Given the description of an element on the screen output the (x, y) to click on. 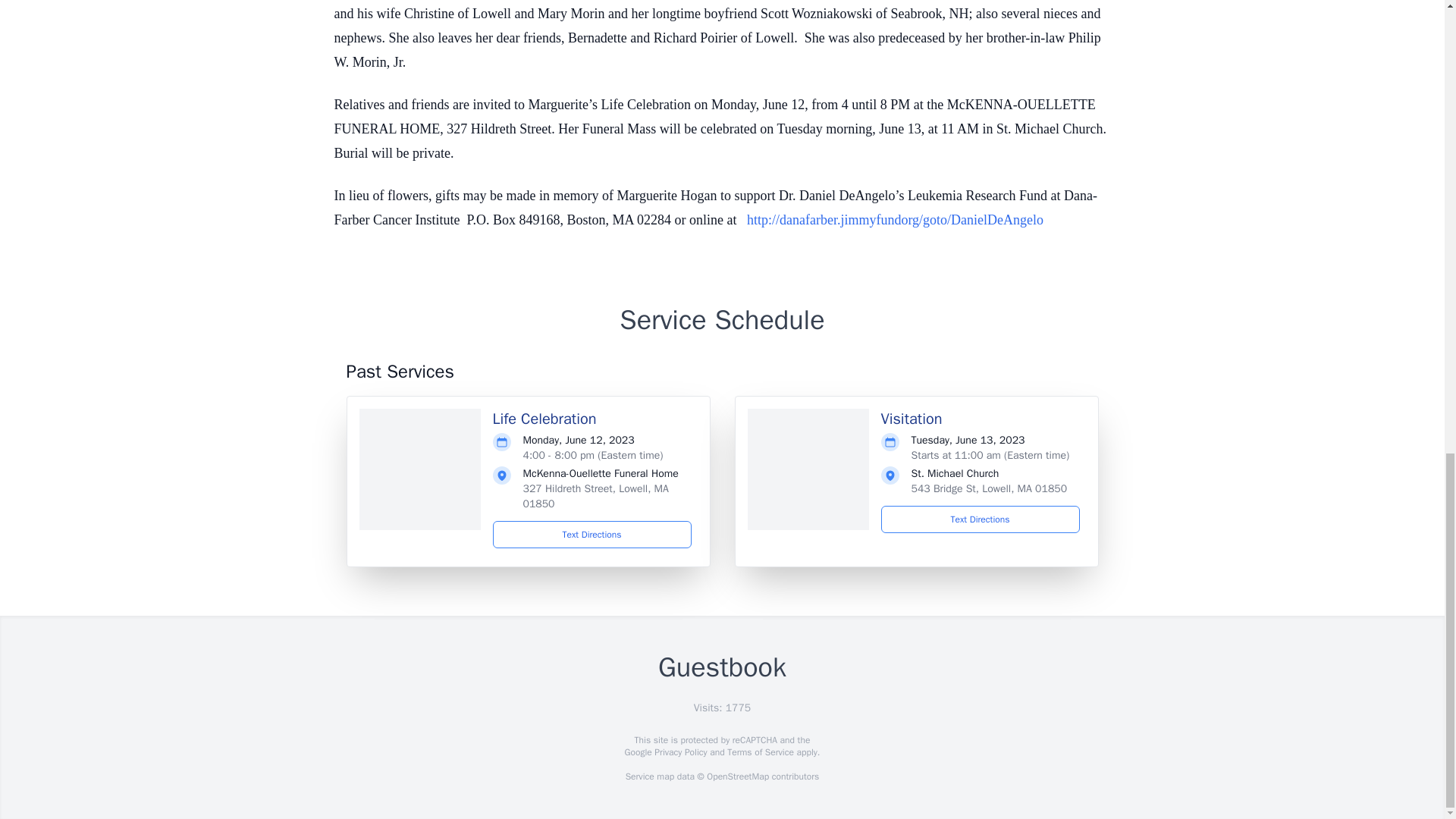
Terms of Service (759, 752)
OpenStreetMap (737, 776)
543 Bridge St, Lowell, MA 01850 (989, 488)
327 Hildreth Street, Lowell, MA 01850 (595, 496)
Text Directions (980, 519)
Text Directions (592, 533)
Privacy Policy (679, 752)
